Given the description of an element on the screen output the (x, y) to click on. 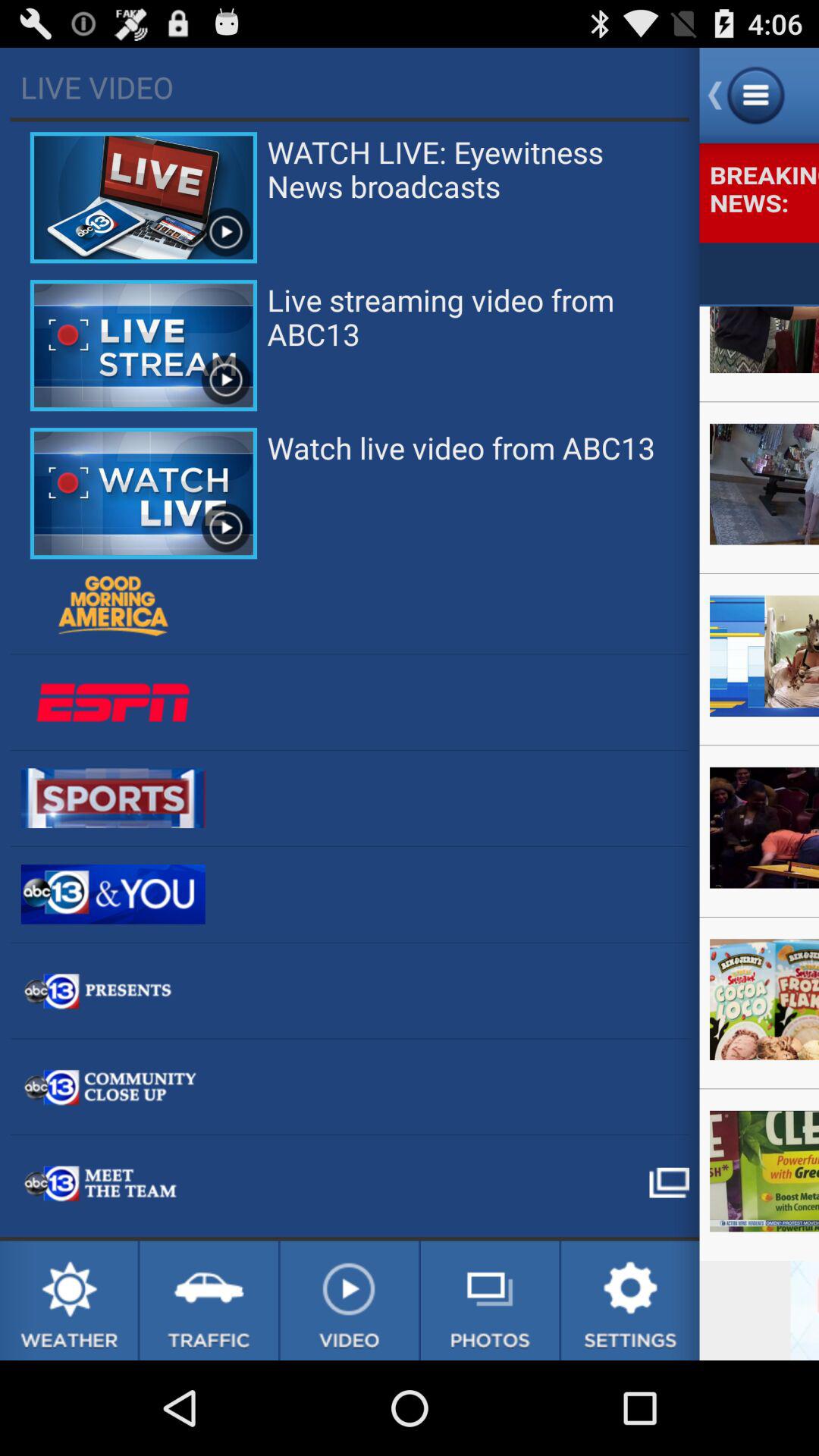
photos (489, 1300)
